Given the description of an element on the screen output the (x, y) to click on. 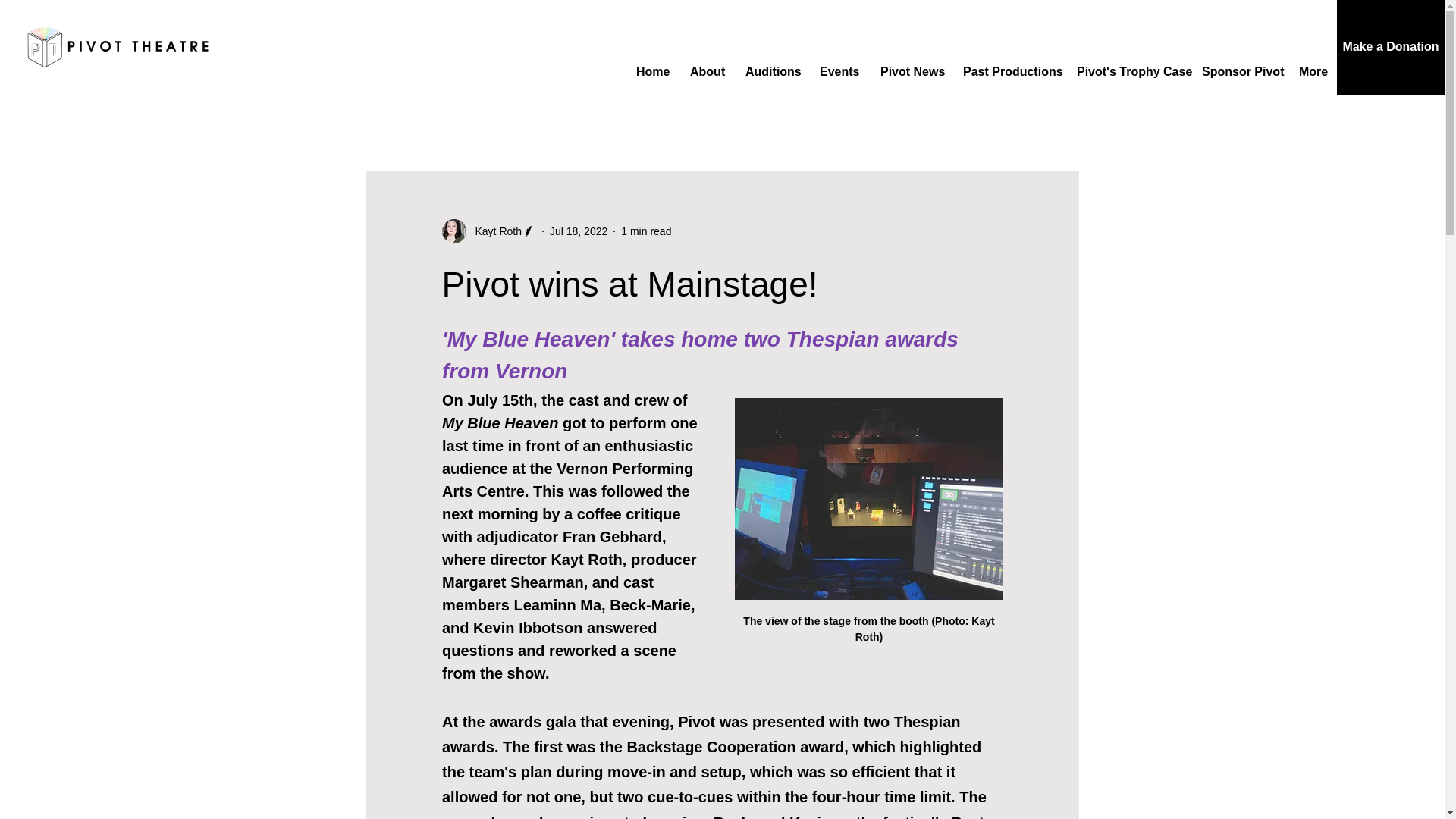
Past Productions (1008, 71)
Auditions (770, 71)
Kayt Roth (493, 230)
1 min read (646, 230)
Jul 18, 2022 (578, 230)
About (705, 71)
Events (838, 71)
Pivot's Trophy Case (1128, 71)
Home (651, 71)
Kayt Roth (488, 231)
Pivot News (910, 71)
Sponsor Pivot (1239, 71)
